Given the description of an element on the screen output the (x, y) to click on. 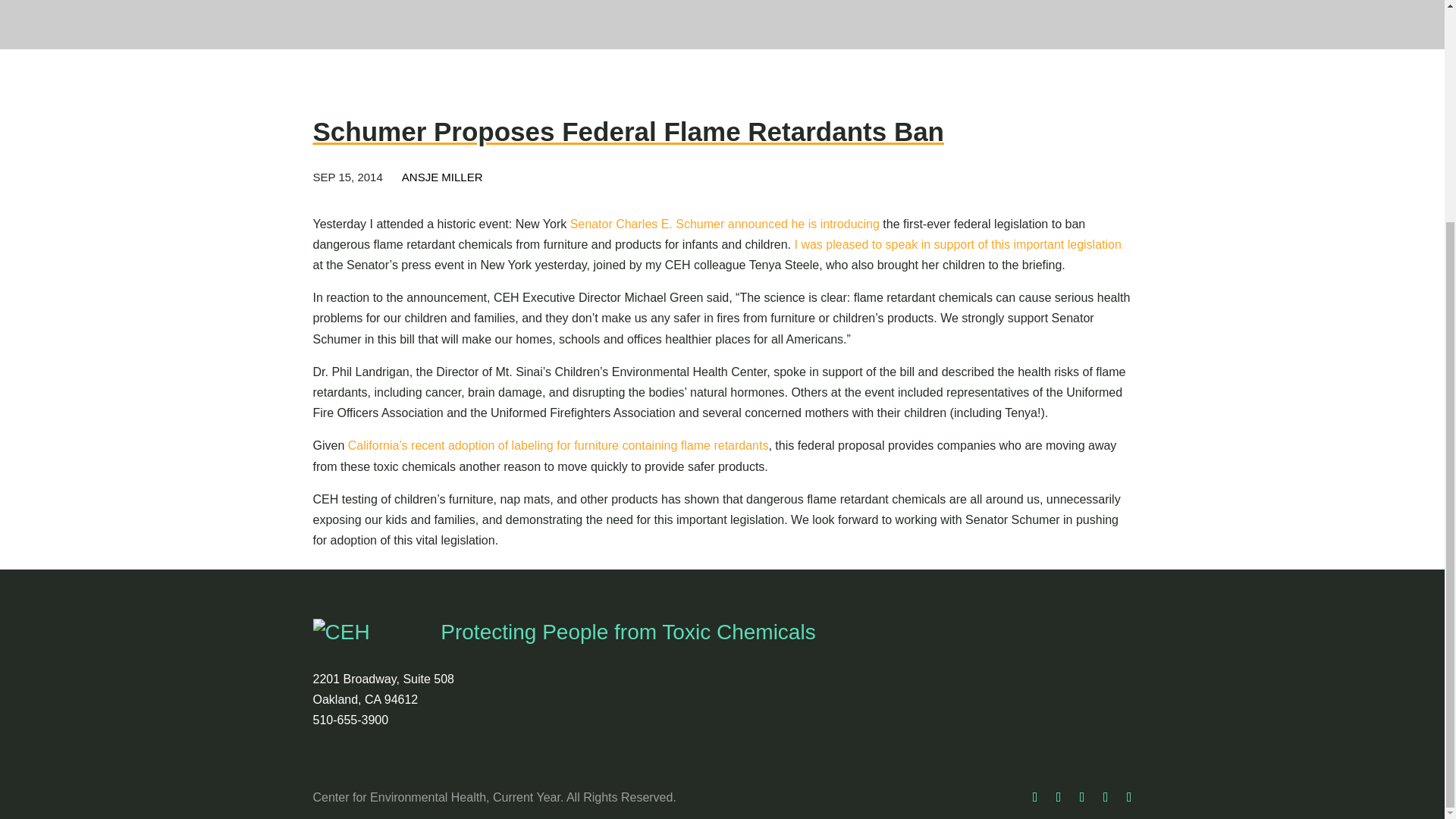
Posts by Ansje Miller (442, 176)
